Given the description of an element on the screen output the (x, y) to click on. 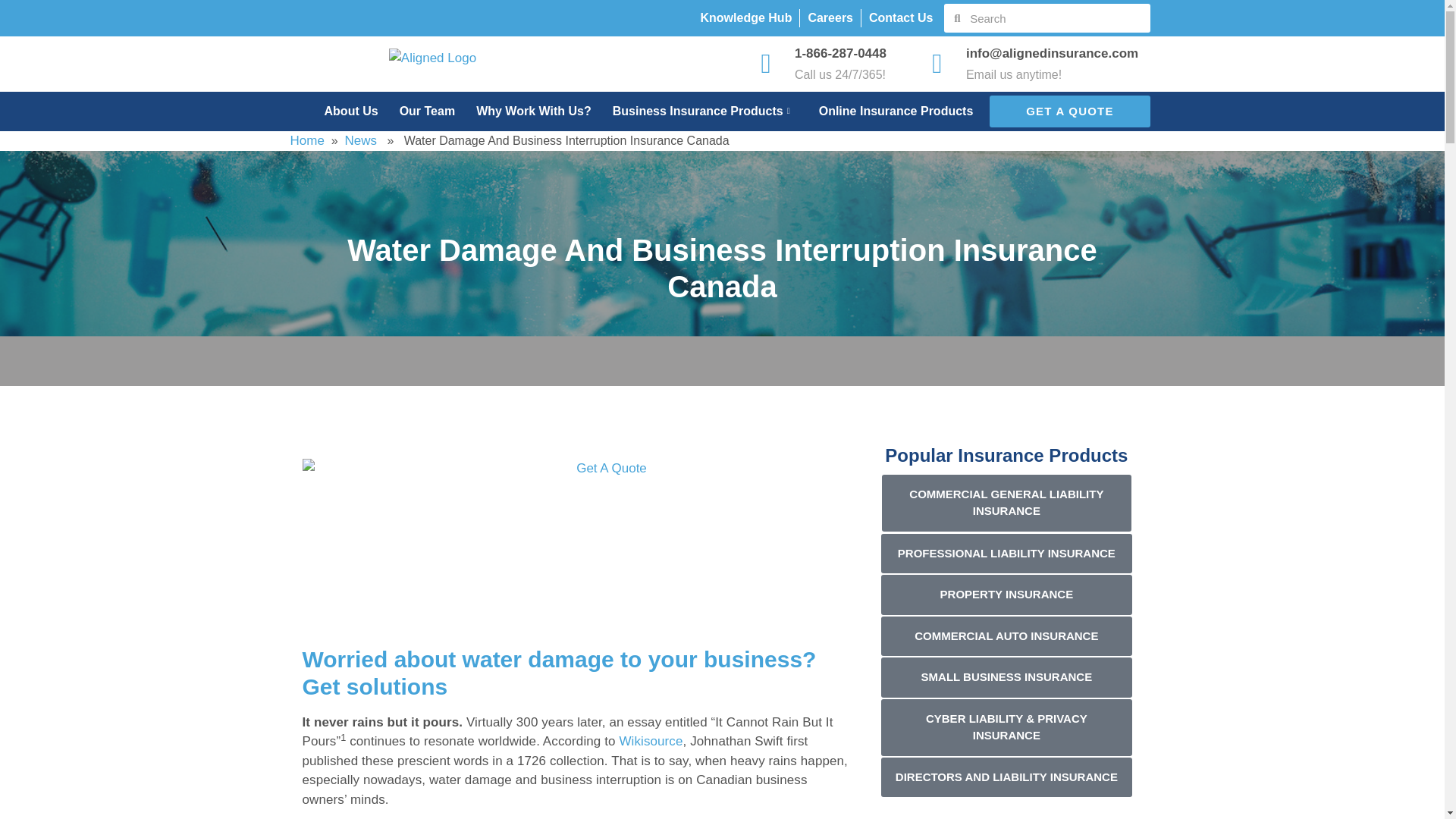
News (361, 140)
Online Insurance Products (885, 110)
Business Insurance Products (694, 110)
1-866-287-0448 (840, 52)
About Us (340, 110)
Knowledge Hub (746, 18)
Home (306, 140)
GET A QUOTE (1070, 111)
Why Work With Us? (522, 110)
Careers (830, 18)
